Given the description of an element on the screen output the (x, y) to click on. 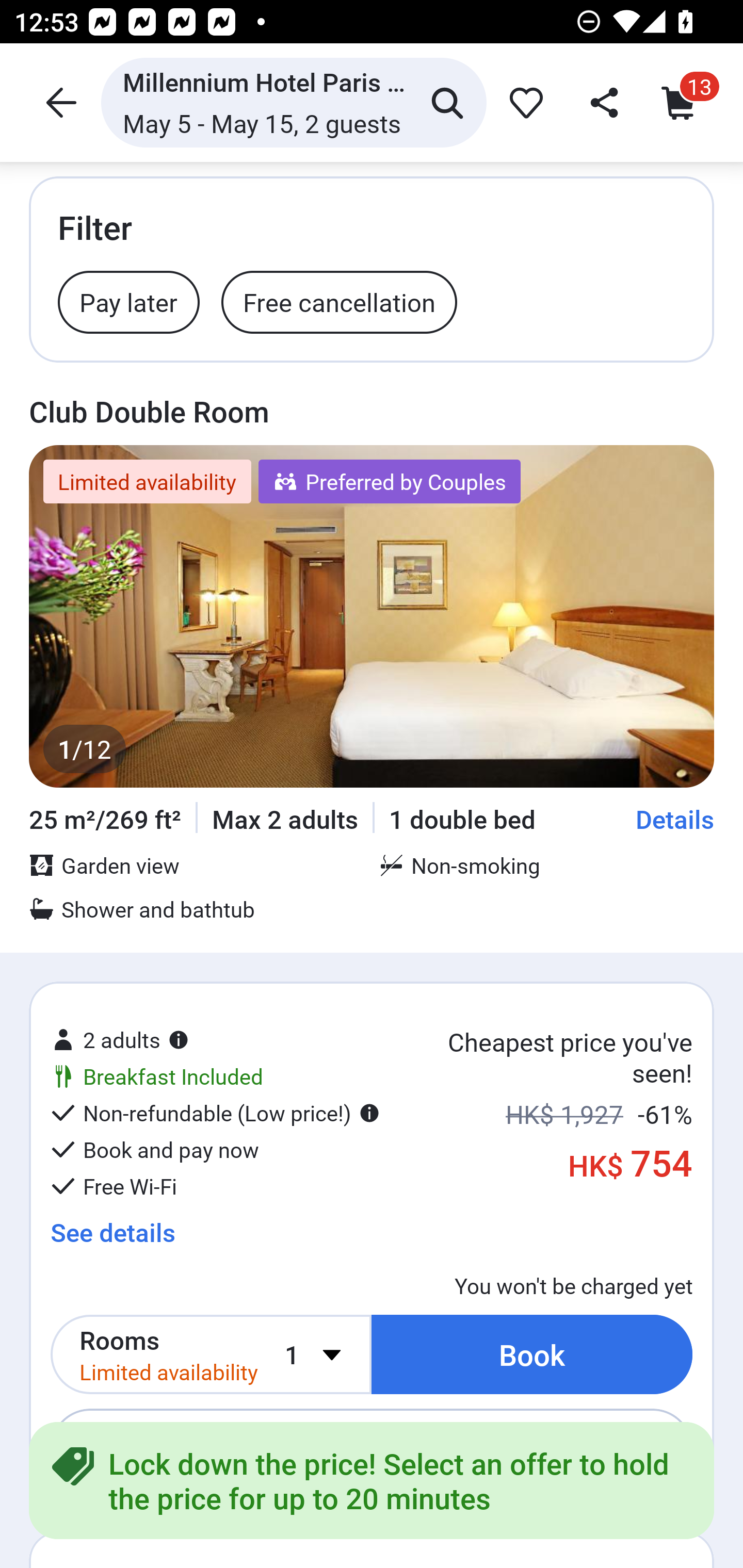
header icon (59, 102)
favorite_icon 0dbe6efb (522, 102)
share_header_icon (601, 102)
Cart icon cart_item_count 13 (683, 102)
Pay later (128, 301)
Free cancellation (338, 301)
image (371, 616)
Details (674, 819)
2 adults (119, 1033)
Non-refundable (Low price!) (215, 1113)
See details (112, 1231)
Rooms Limited availability 1 (210, 1351)
Book (531, 1351)
